Given the description of an element on the screen output the (x, y) to click on. 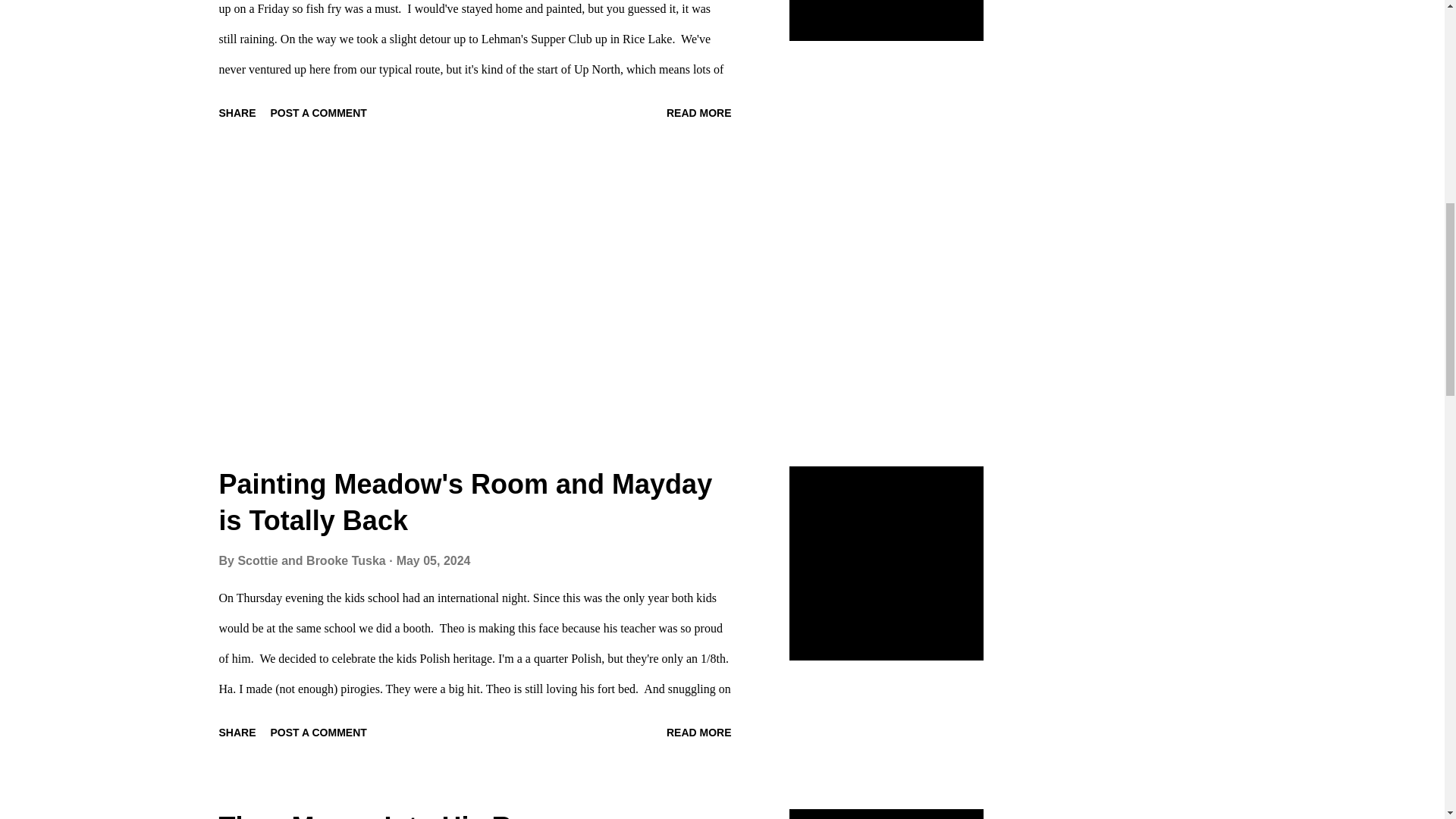
May 05, 2024 (433, 560)
READ MORE (699, 112)
Painting Meadow's Room and Mayday is Totally Back (464, 502)
POST A COMMENT (318, 112)
SHARE (237, 112)
Scottie and Brooke Tuska (312, 560)
